Given the description of an element on the screen output the (x, y) to click on. 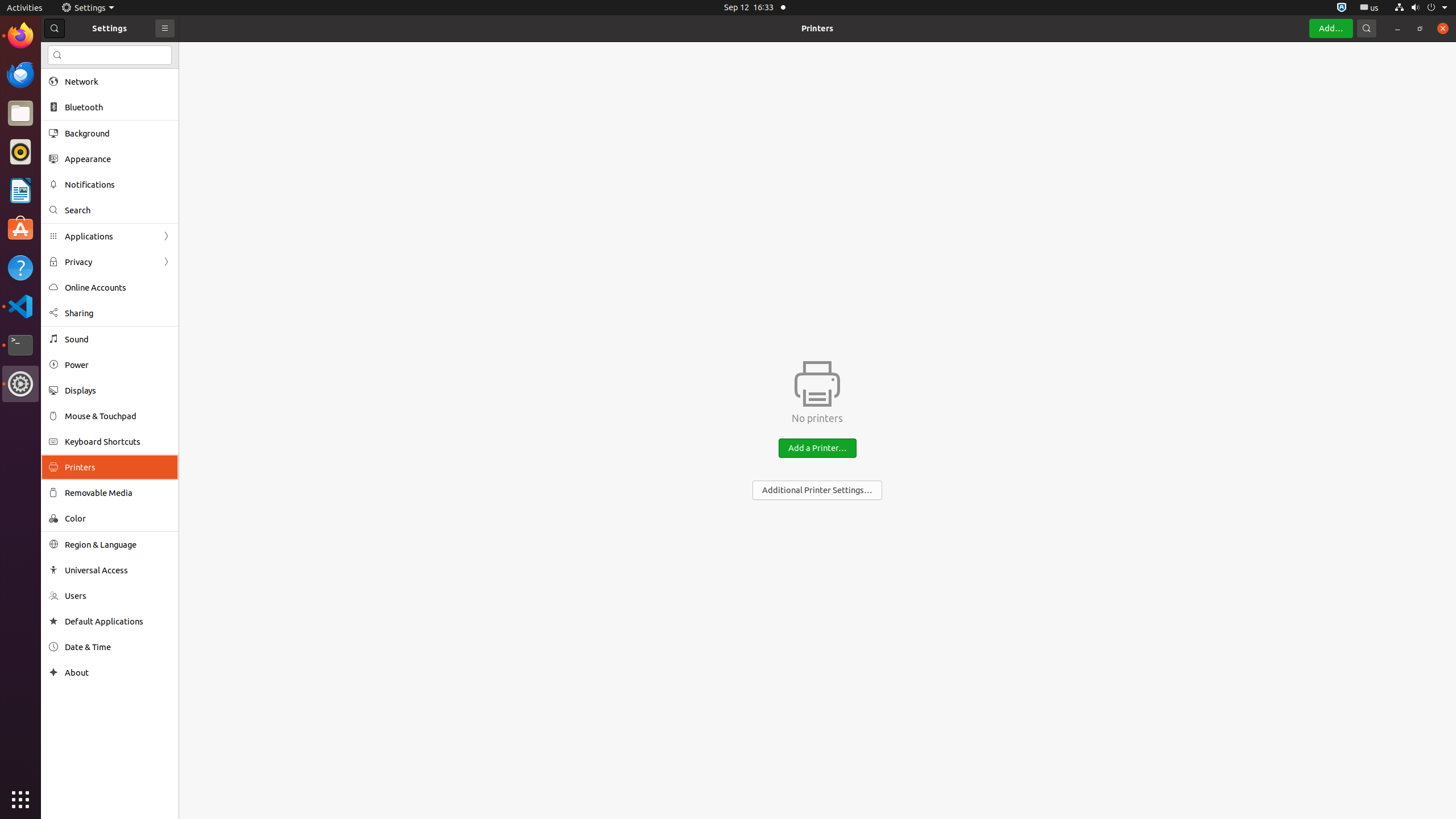
Sound Element type: label (117, 339)
Firefox Web Browser Element type: push-button (20, 35)
Terminal Element type: push-button (20, 344)
Close Element type: push-button (1442, 27)
Search Element type: label (117, 209)
